Given the description of an element on the screen output the (x, y) to click on. 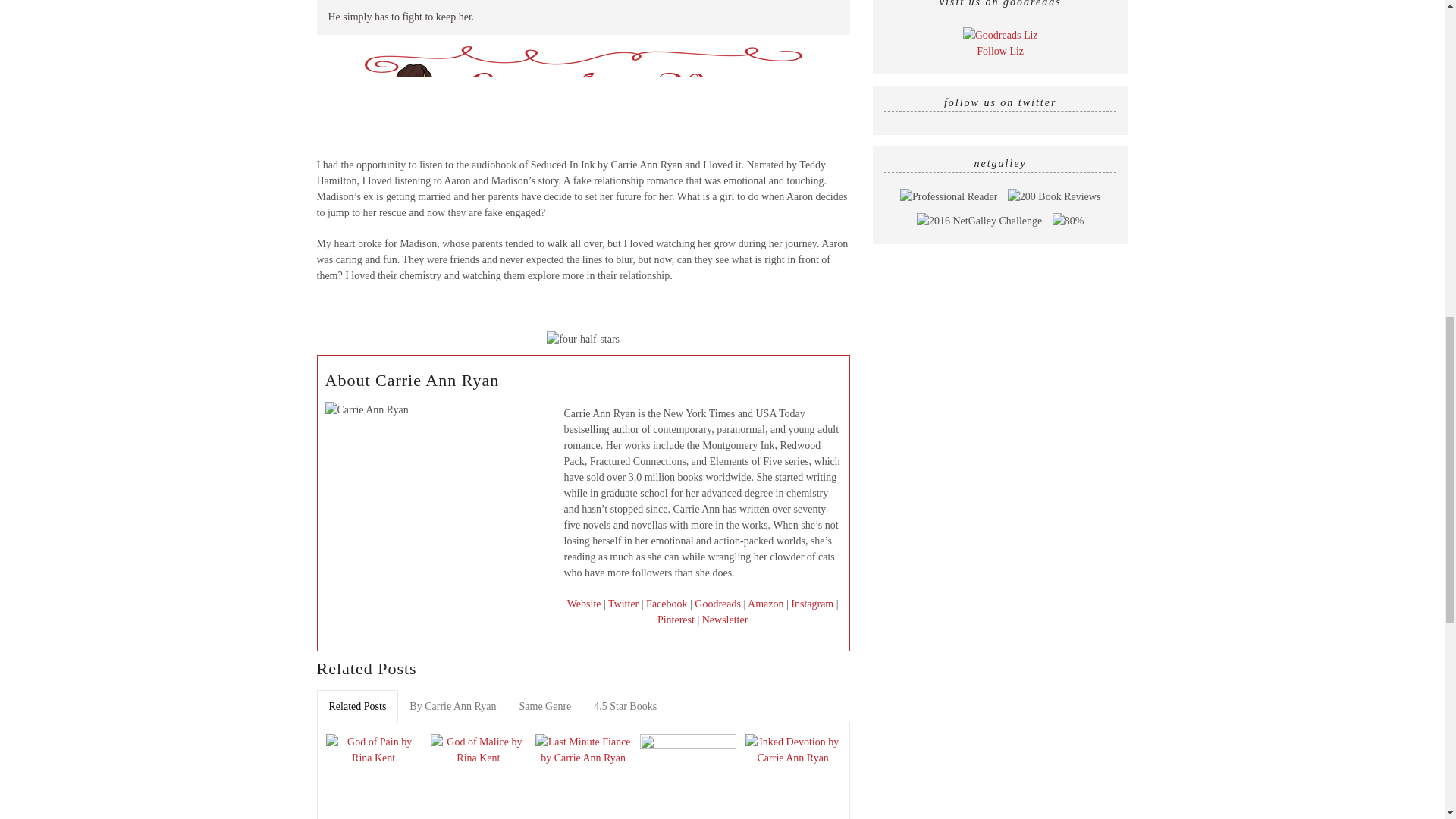
By Carrie Ann Ryan (451, 706)
Twitter (623, 603)
2016 NetGalley Challenge (979, 220)
Same Genre (545, 706)
Professional Reader (948, 196)
4.5 Star Books (625, 706)
Amazon (765, 603)
Pinterest (676, 619)
Facebook (666, 603)
50 Book Reviews (1053, 196)
